Given the description of an element on the screen output the (x, y) to click on. 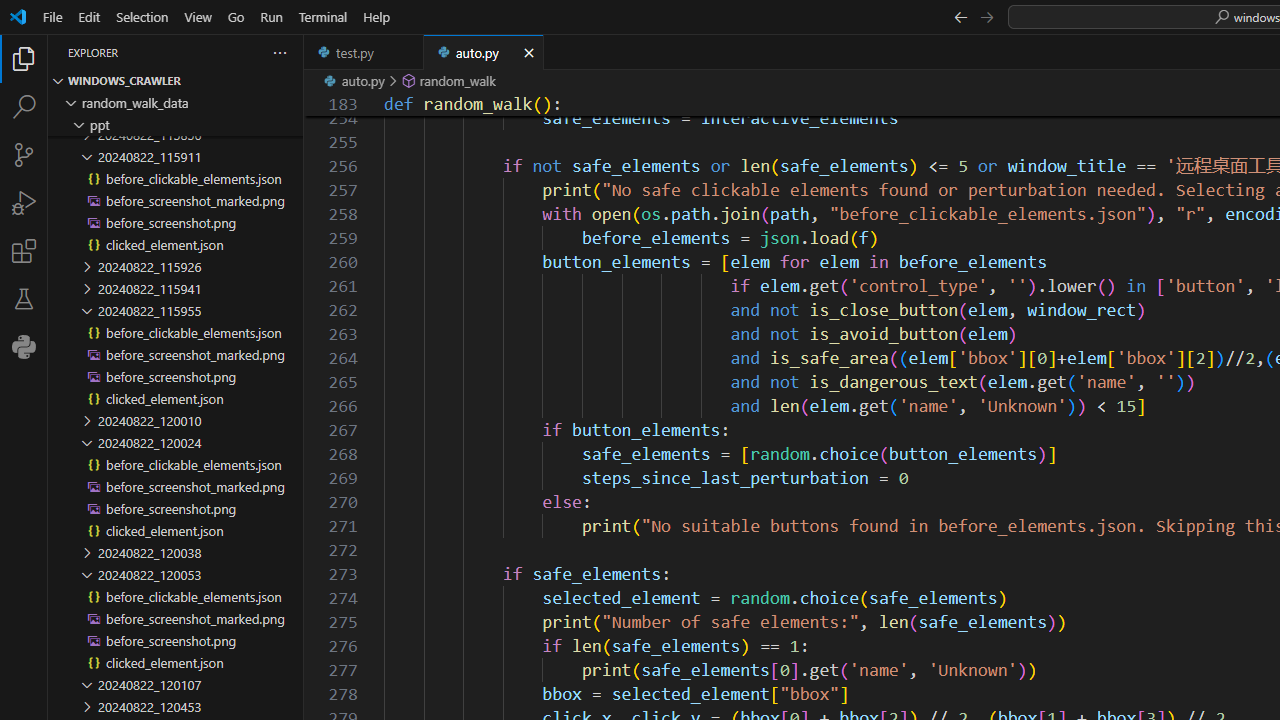
Close (Ctrl+F4) (528, 52)
Selection (141, 16)
Tab actions (528, 52)
auto.py (483, 52)
Testing (24, 299)
Run and Debug (Ctrl+Shift+D) (24, 202)
Extensions (Ctrl+Shift+X) (24, 250)
Edit (89, 16)
Explorer Section: windows_crawler (175, 80)
Search (Ctrl+Shift+F) (24, 106)
Explorer actions (208, 52)
Go (235, 16)
Python (24, 346)
